Given the description of an element on the screen output the (x, y) to click on. 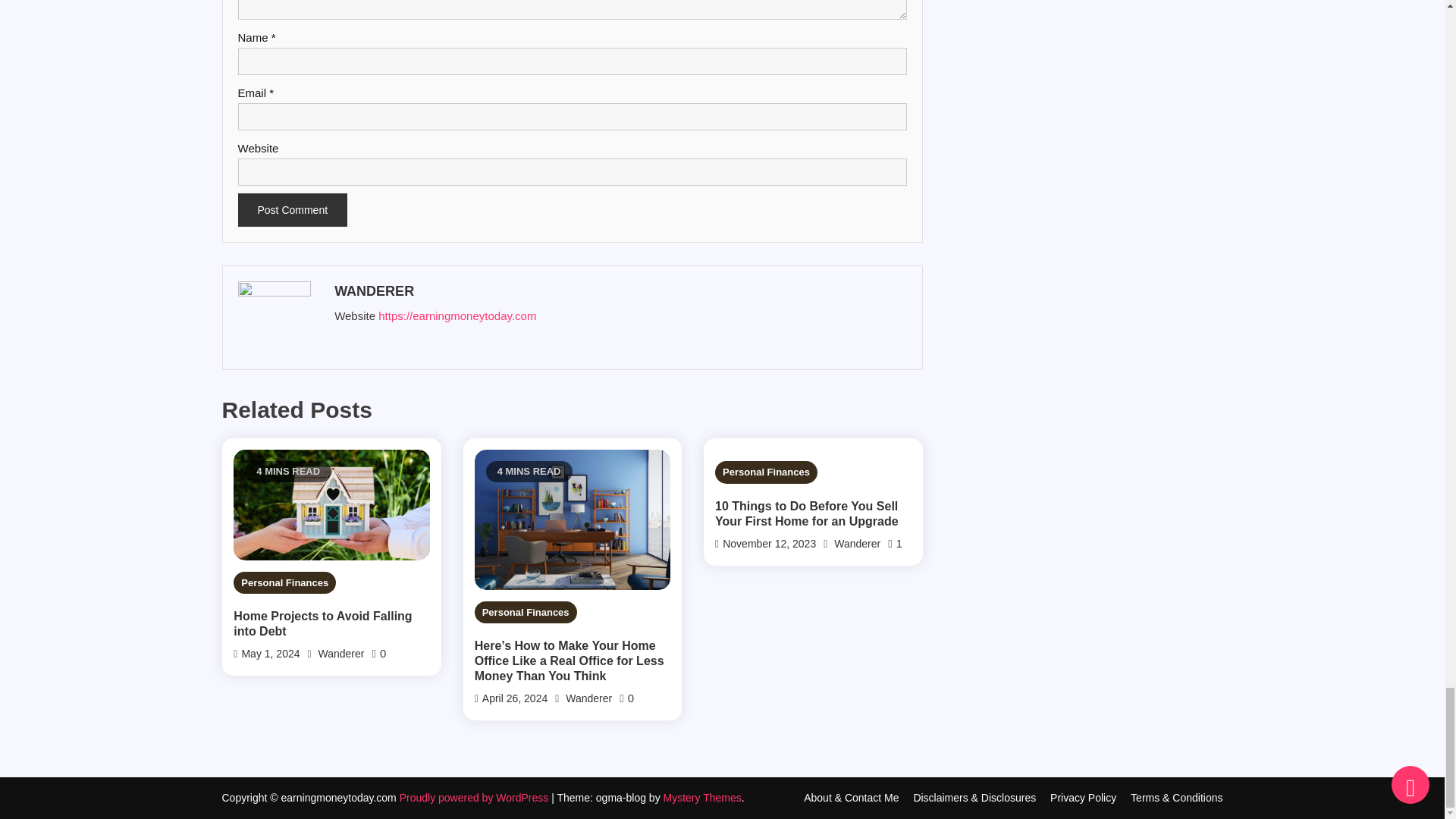
Posts by Wanderer (618, 291)
Post Comment (292, 209)
